Given the description of an element on the screen output the (x, y) to click on. 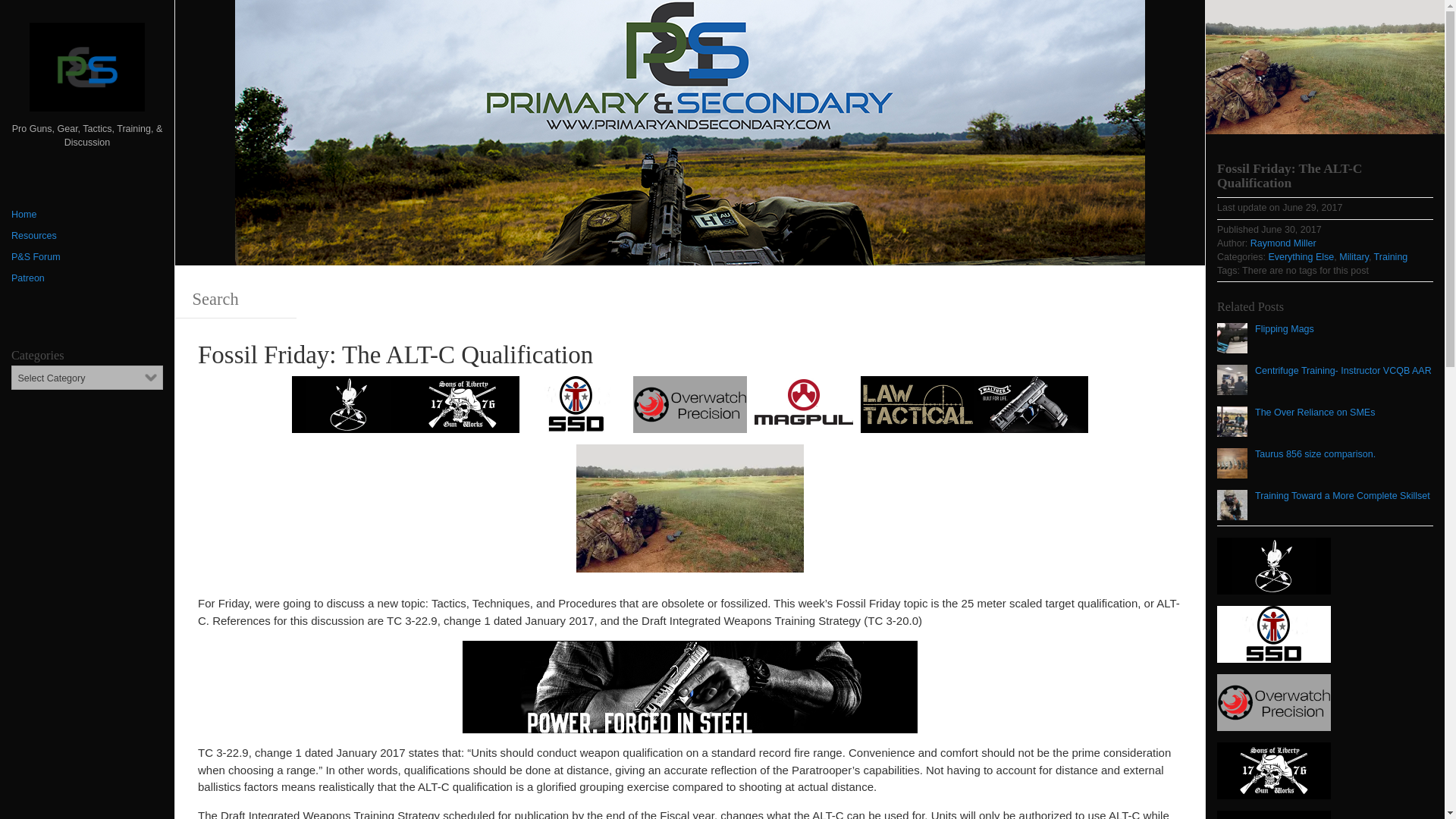
Home (87, 215)
Search (58, 18)
Everything Else (1300, 256)
Training (1390, 256)
Patreon (87, 278)
Taurus 856 size comparison. (1296, 462)
Flipping Mags (1265, 337)
Search (235, 299)
Posts by Raymond Miller (1283, 243)
Centrifuge Training- Instructor VCQB AAR (1324, 379)
Flipping Mags (1265, 337)
Training Toward a More Complete Skillset (1323, 504)
The Over Reliance on SMEs (1295, 421)
Resources (87, 236)
Military (1353, 256)
